Given the description of an element on the screen output the (x, y) to click on. 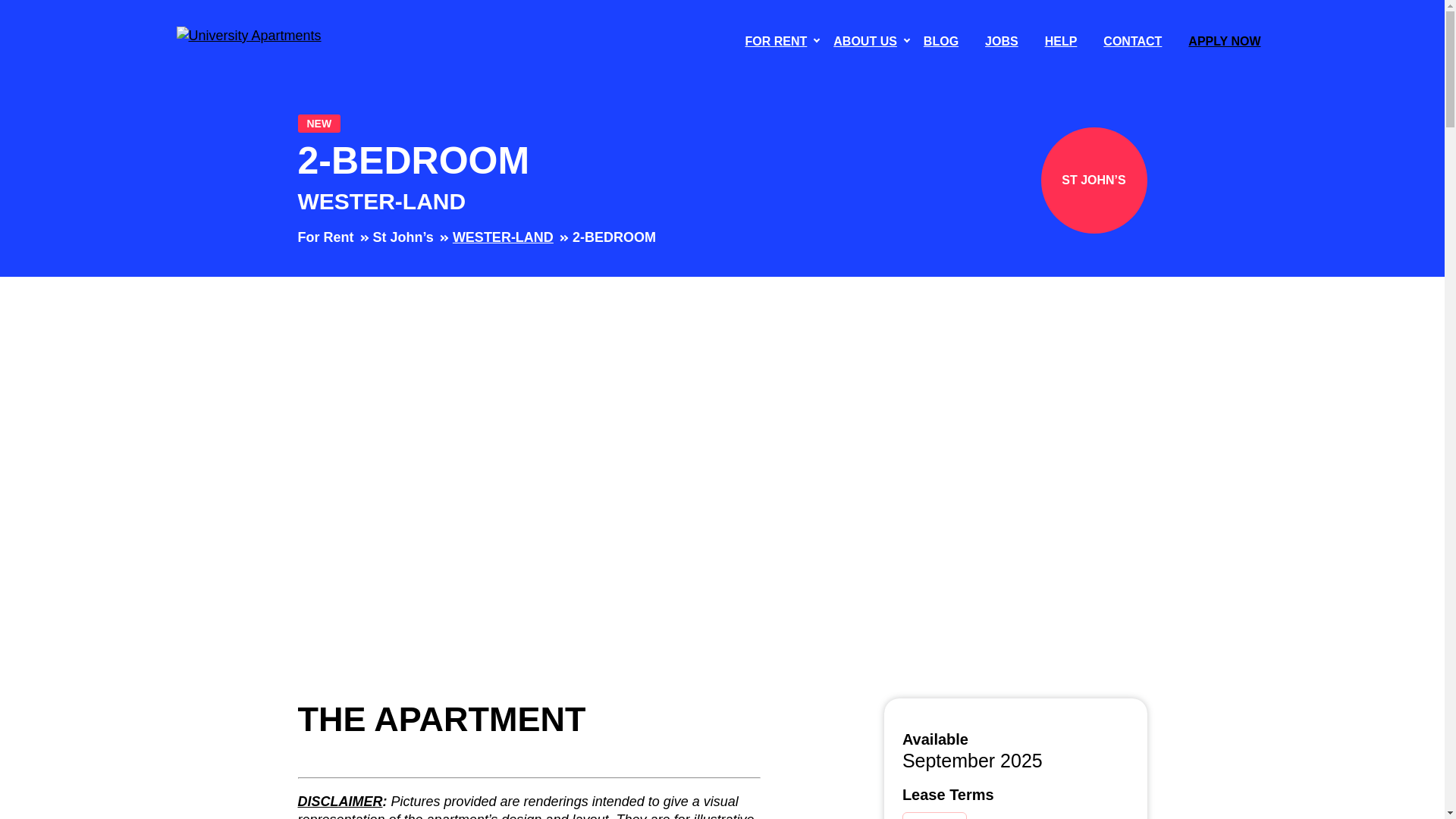
JOBS (1001, 41)
WESTER-LAND (502, 237)
FOR RENT (776, 41)
BLOG (940, 41)
APPLY NOW (1224, 41)
CONTACT (1132, 41)
HELP (1060, 41)
ABOUT US (864, 41)
